Given the description of an element on the screen output the (x, y) to click on. 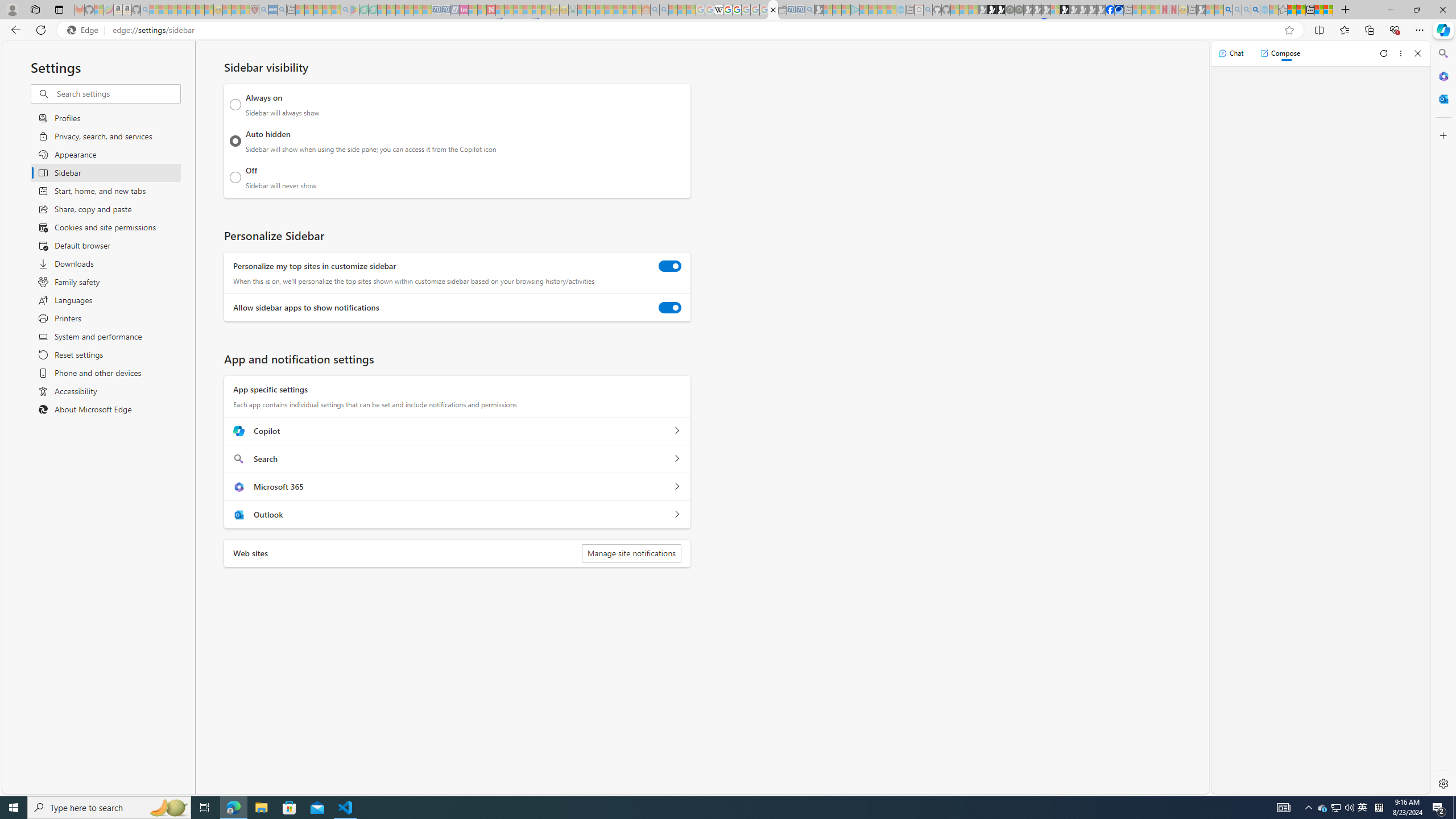
Home | Sky Blue Bikes - Sky Blue Bikes - Sleeping (900, 9)
Edge (84, 29)
Terms of Use Agreement - Sleeping (362, 9)
